Given the description of an element on the screen output the (x, y) to click on. 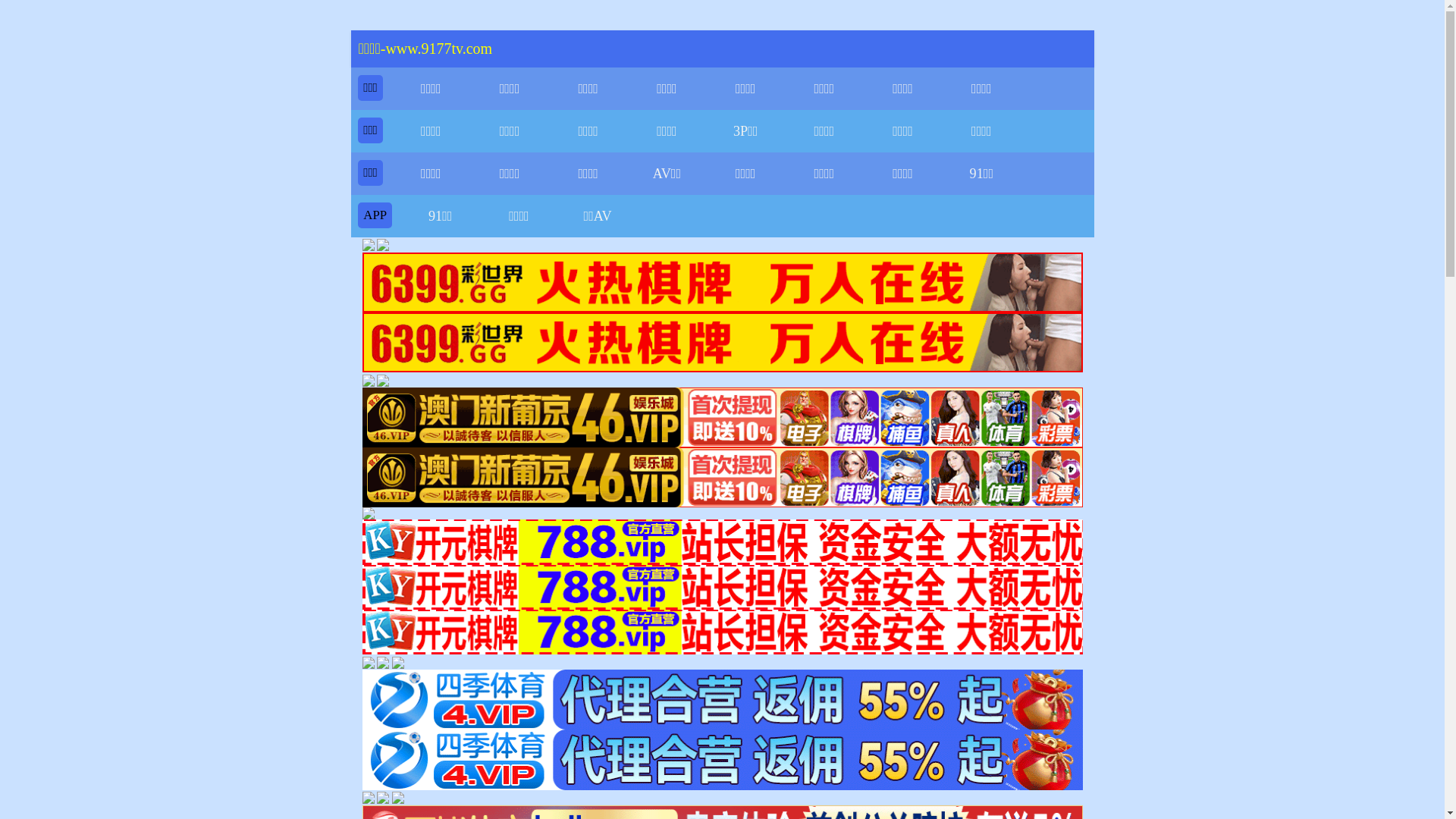
APP Element type: text (374, 214)
